Given the description of an element on the screen output the (x, y) to click on. 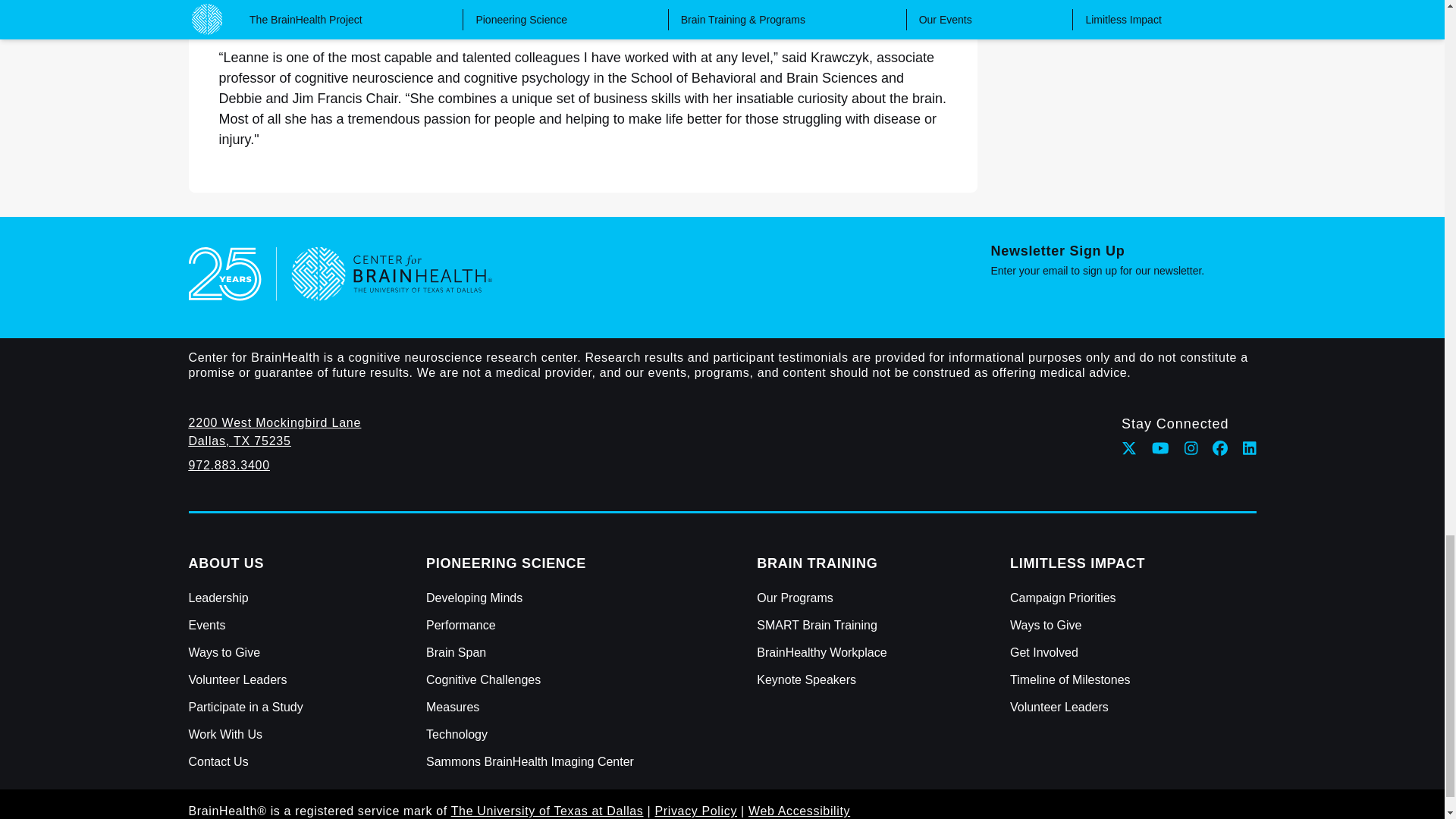
iframe (1122, 270)
